Given the description of an element on the screen output the (x, y) to click on. 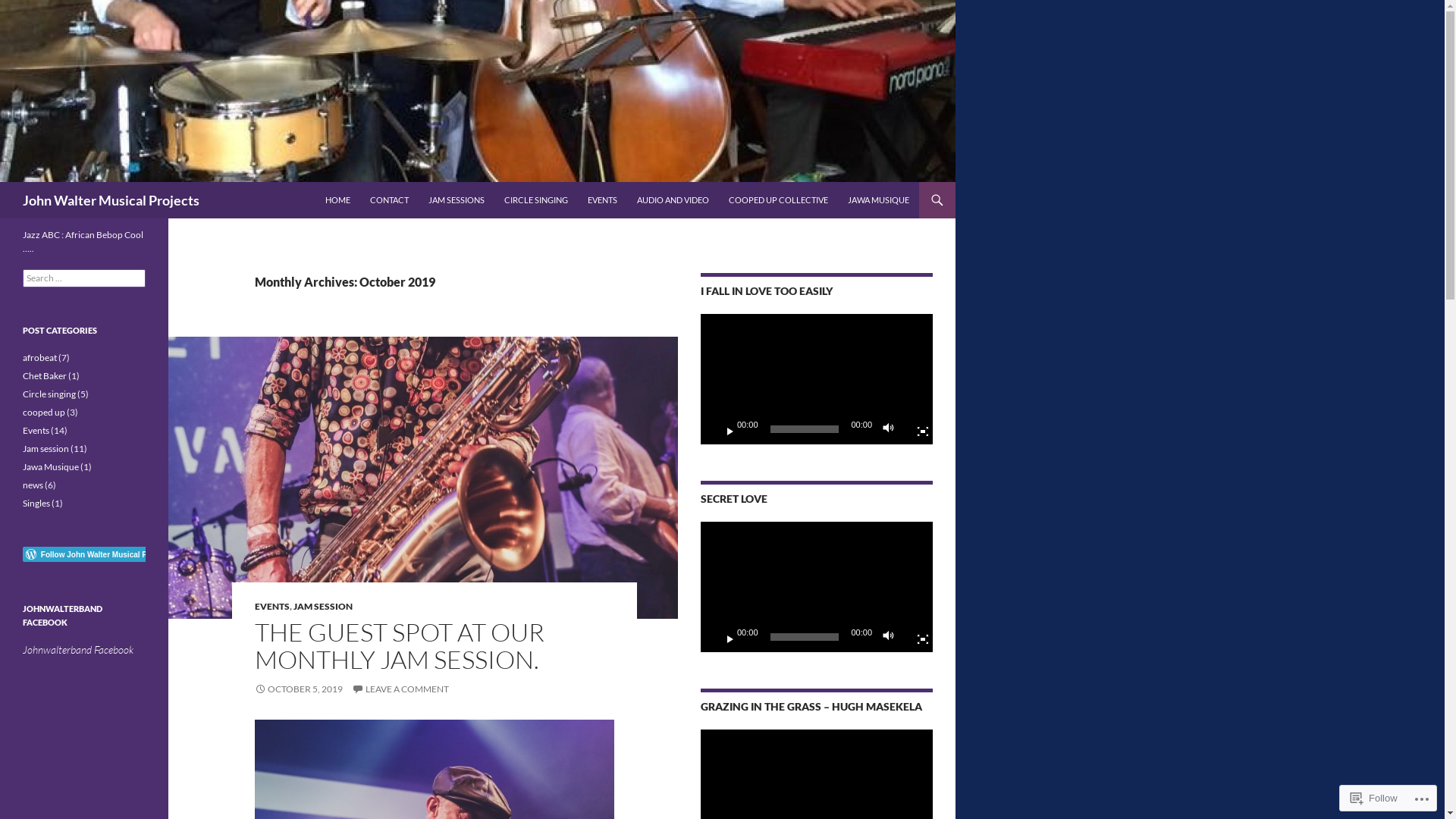
EVENTS Element type: text (602, 200)
CONTACT Element type: text (388, 200)
Jawa Musique Element type: text (50, 466)
COOPED UP COLLECTIVE Element type: text (778, 200)
Fullscreen Element type: hover (916, 636)
Search Element type: text (29, 9)
Johnwalterband Facebook Element type: text (77, 649)
JAWA MUSIQUE Element type: text (878, 200)
Follow Button Element type: hover (83, 553)
AUDIO AND VIDEO Element type: text (672, 200)
Follow Element type: text (1373, 797)
Mute Element type: hover (892, 428)
JAM SESSIONS Element type: text (456, 200)
Play Element type: hover (723, 428)
Jam session Element type: text (45, 448)
cooped up Element type: text (43, 411)
Play Element type: hover (723, 636)
Singles Element type: text (36, 502)
LEAVE A COMMENT Element type: text (399, 688)
Mute Element type: hover (892, 636)
Search Element type: text (3, 181)
JOHNWALTERBAND FACEBOOK Element type: text (62, 615)
John Walter Musical Projects Element type: text (110, 200)
Chet Baker Element type: text (44, 375)
Events Element type: text (35, 430)
afrobeat Element type: text (39, 357)
Circle singing Element type: text (48, 393)
news Element type: text (32, 484)
HOME Element type: text (337, 200)
CIRCLE SINGING Element type: text (536, 200)
EVENTS Element type: text (271, 605)
THE GUEST SPOT AT OUR MONTHLY JAM SESSION. Element type: text (399, 645)
Fullscreen Element type: hover (916, 428)
OCTOBER 5, 2019 Element type: text (298, 688)
JAM SESSION Element type: text (322, 605)
